Given the description of an element on the screen output the (x, y) to click on. 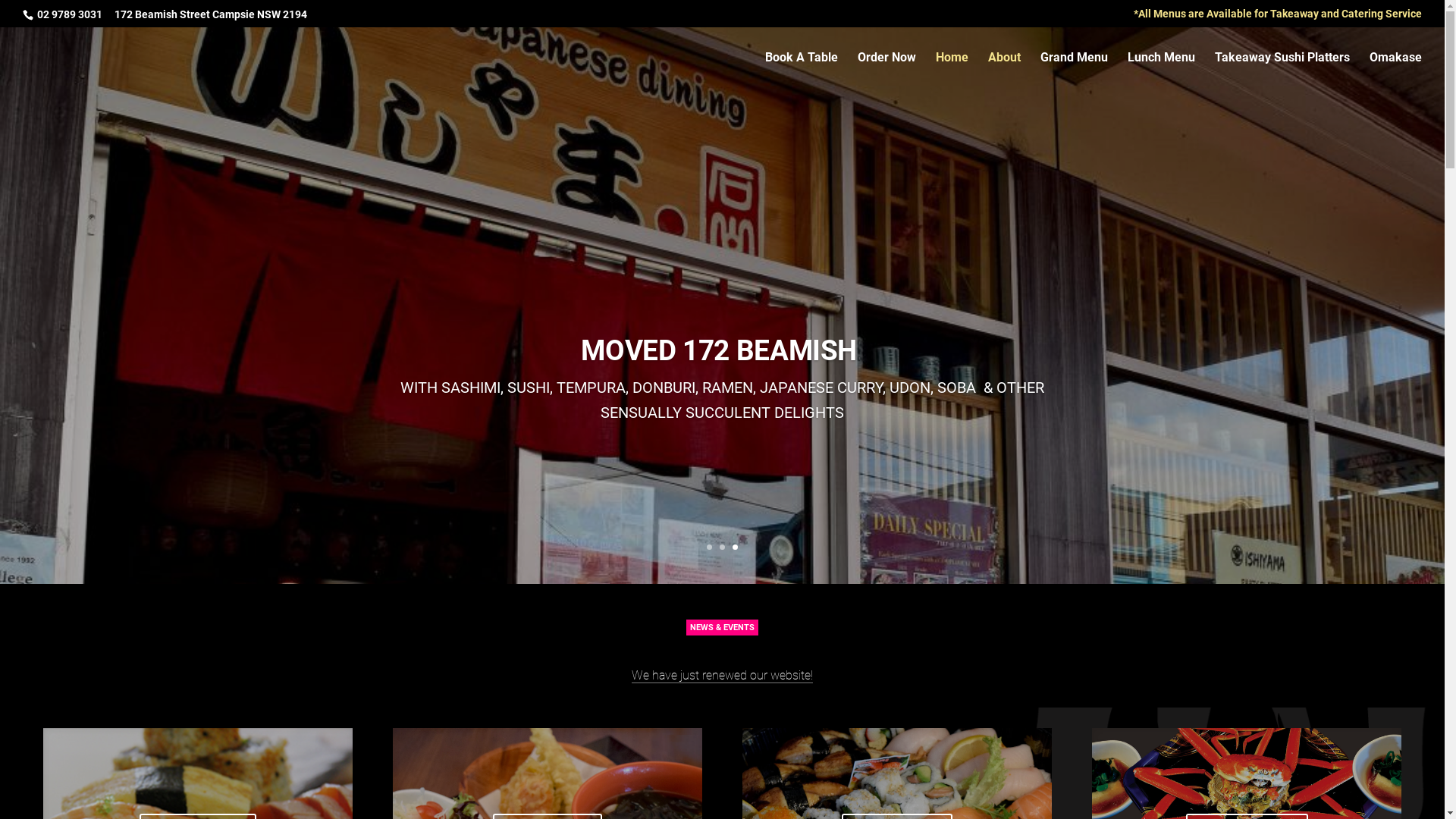
1 Element type: text (709, 546)
2 Element type: text (721, 546)
Takeaway Sushi Platters Element type: text (1281, 69)
About Element type: text (1004, 69)
We have just renewed our website! Element type: text (721, 675)
Book A Table Element type: text (801, 69)
Order Now Element type: text (886, 69)
Grand Menu Element type: text (1073, 69)
3 Element type: text (734, 546)
Home Element type: text (951, 69)
Lunch Menu Element type: text (1161, 69)
Omakase Element type: text (1395, 69)
02 9789 3031 Element type: text (68, 13)
